Given the description of an element on the screen output the (x, y) to click on. 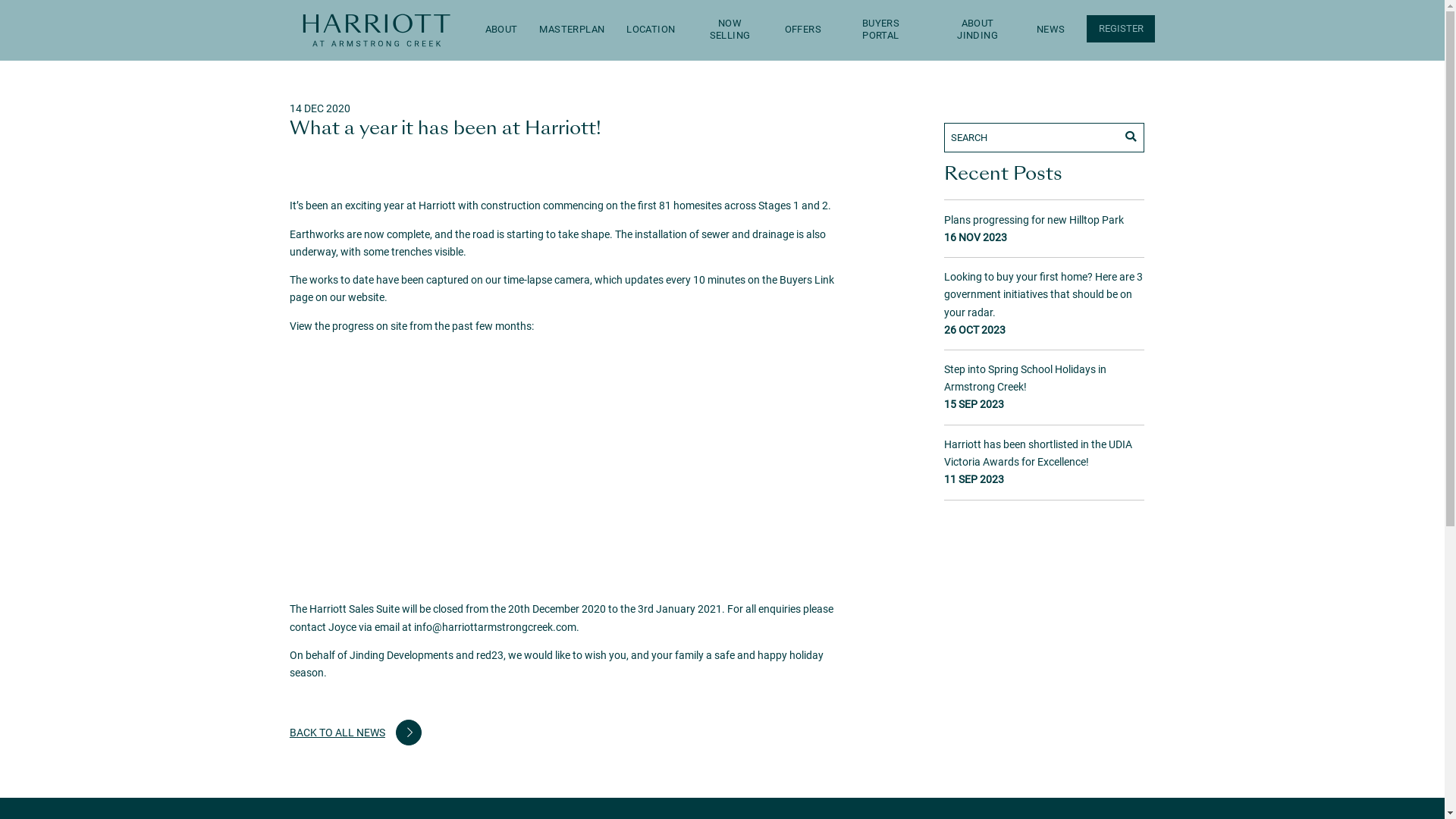
LOCATION Element type: text (650, 30)
REGISTER Element type: text (1120, 28)
ABOUT JINDING Element type: text (977, 30)
ABOUT Element type: text (501, 30)
Plans progressing for new Hilltop Park Element type: text (1033, 219)
BACK TO ALL NEWS Element type: text (355, 732)
NOW SELLING Element type: text (729, 30)
NEWS Element type: text (1050, 30)
Step into Spring School Holidays in Armstrong Creek! Element type: text (1025, 378)
BUYERS PORTAL Element type: text (880, 30)
OFFERS Element type: text (802, 30)
MASTERPLAN Element type: text (571, 30)
